Given the description of an element on the screen output the (x, y) to click on. 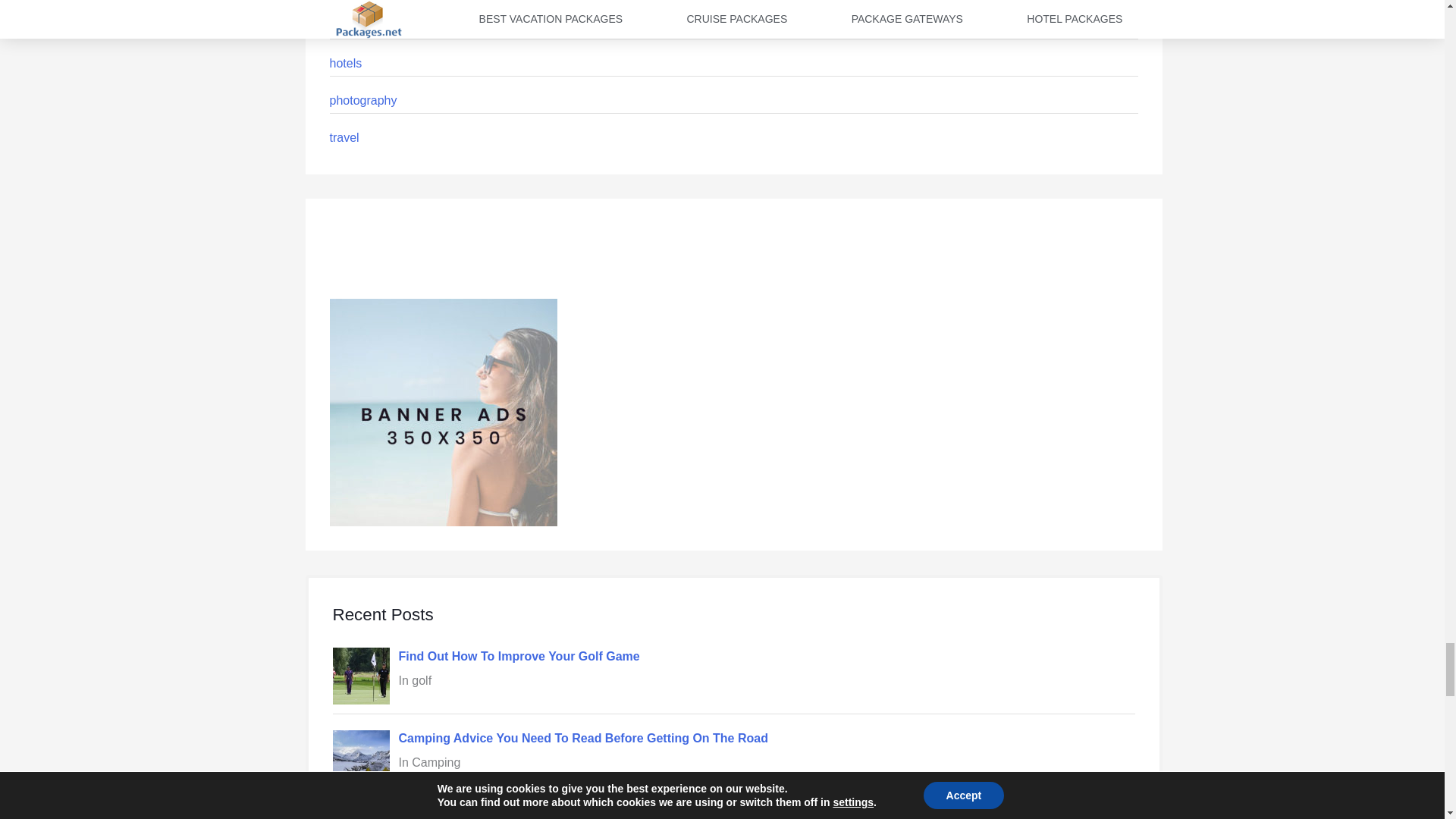
travel (343, 137)
hotels (345, 62)
golf (339, 25)
photography (362, 100)
Find Out How To Improve Your Golf Game (519, 656)
Camping Advice You Need To Read Before Getting On The Road (583, 738)
Hotel, Motel, Or Inn? Picking The Right Place To Stay (551, 816)
